Given the description of an element on the screen output the (x, y) to click on. 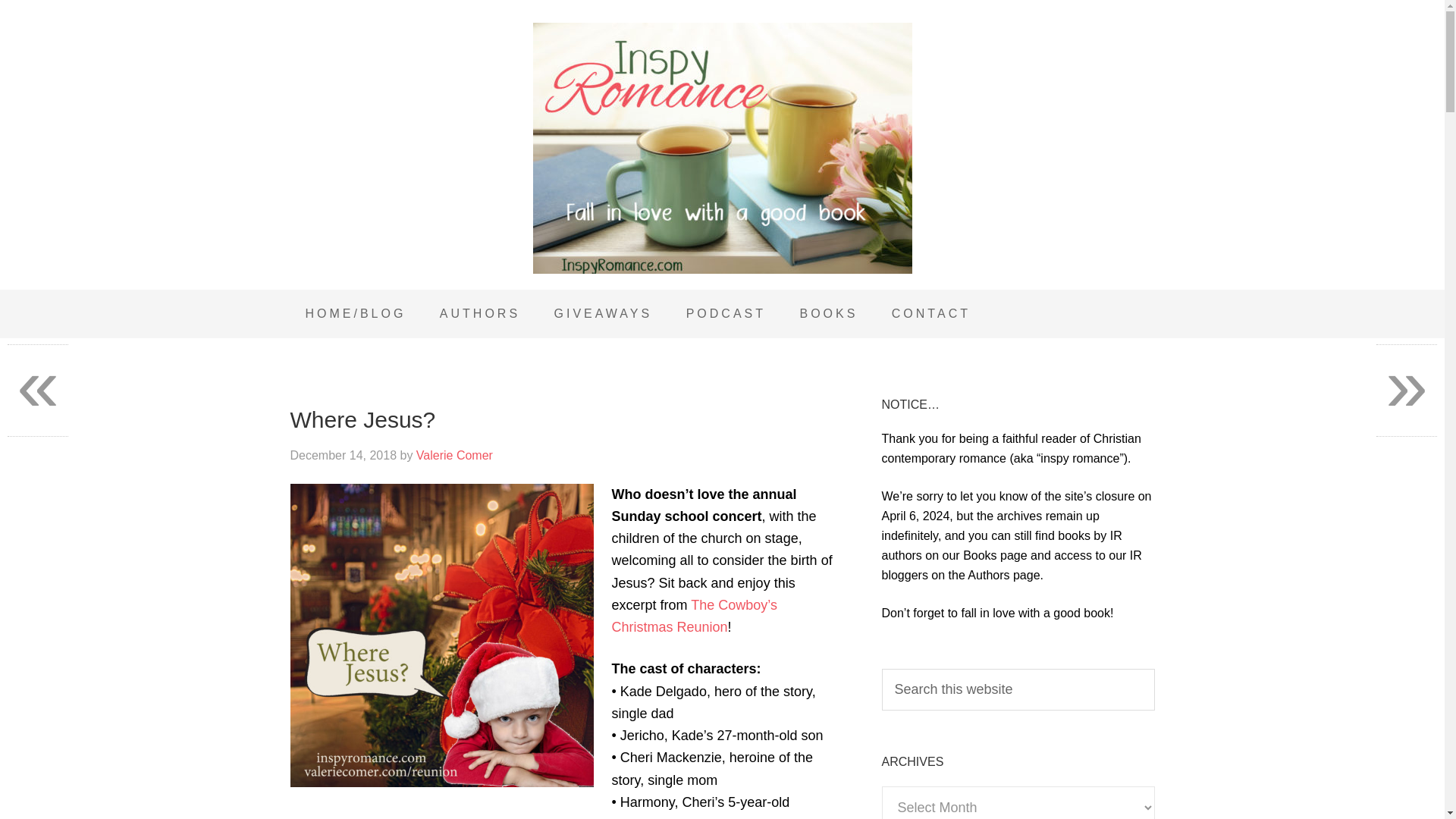
BOOKS (828, 313)
CONTACT (930, 313)
AUTHORS (480, 313)
GIVEAWAYS (603, 313)
PODCAST (725, 313)
Valerie Comer (454, 454)
